Given the description of an element on the screen output the (x, y) to click on. 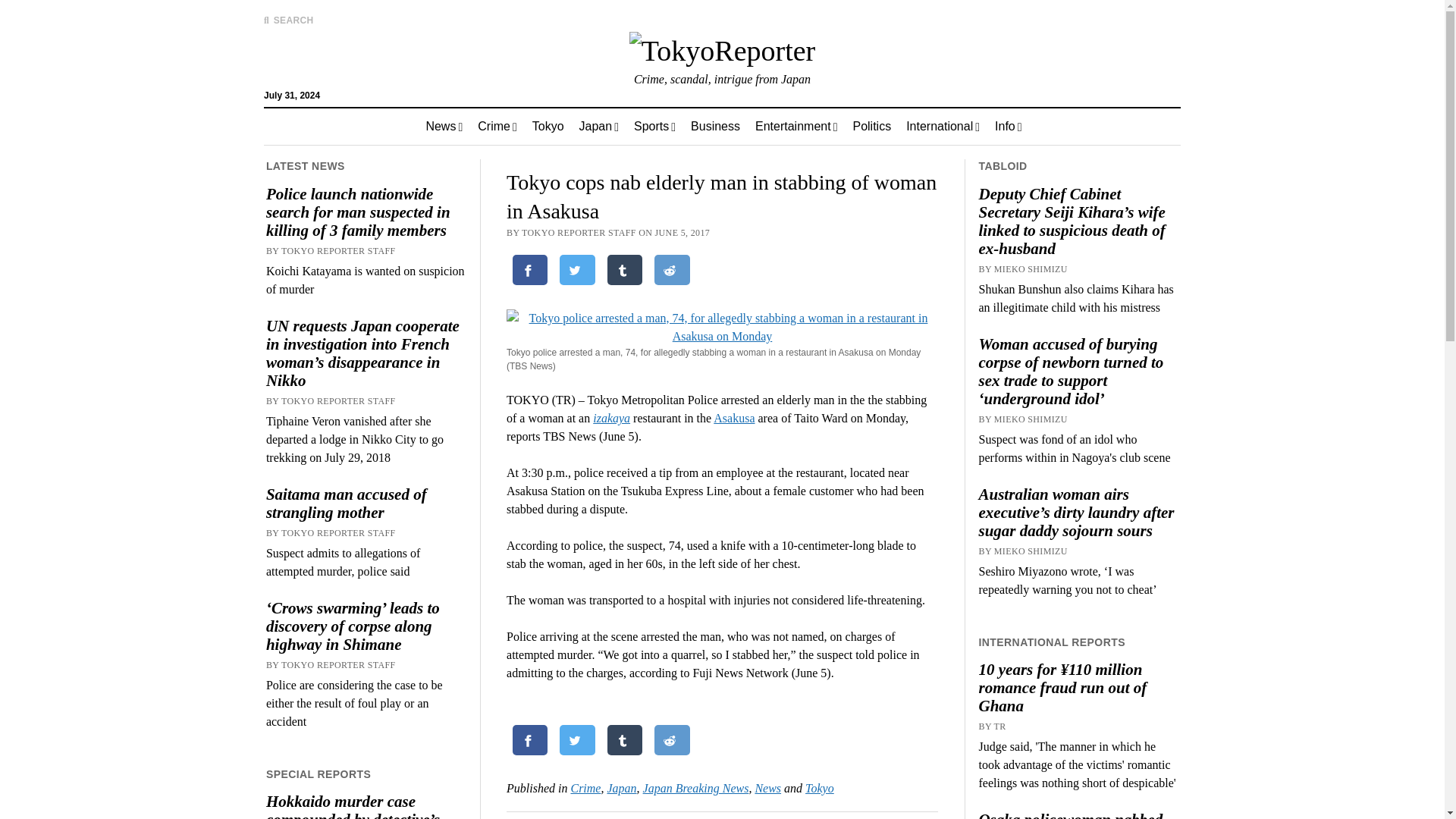
Business (715, 126)
Entertainment (795, 126)
Japan (598, 126)
View all posts in Japan (621, 788)
Search (945, 129)
Crime (496, 126)
View all posts in Crime (584, 788)
Politics (871, 126)
Sports (654, 126)
Tokyo (547, 126)
News (443, 126)
View all posts in Tokyo (819, 788)
View all posts in Japan Breaking News (696, 788)
View all posts in News (767, 788)
SEARCH (288, 20)
